Given the description of an element on the screen output the (x, y) to click on. 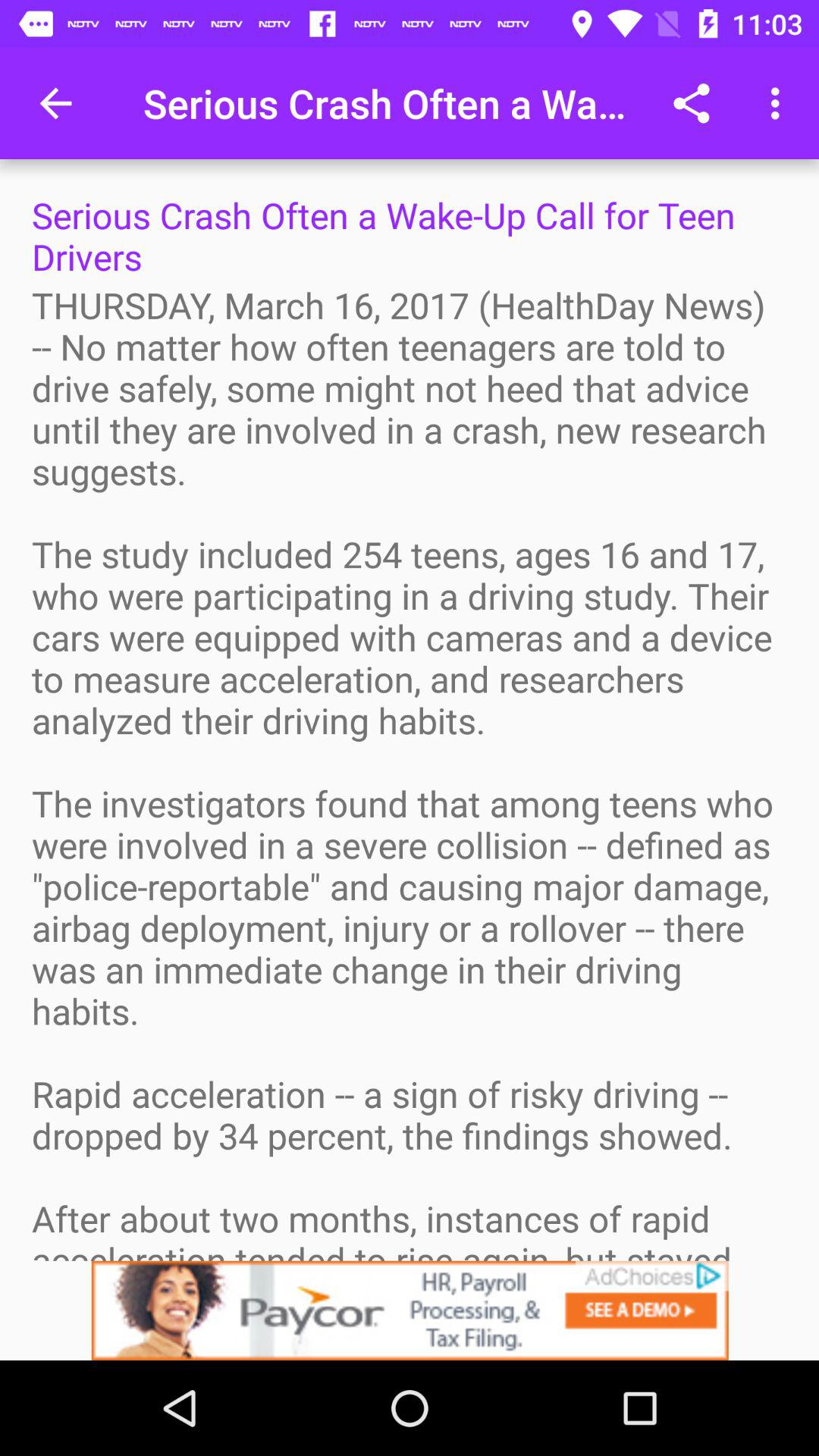
advertisement (409, 1310)
